Given the description of an element on the screen output the (x, y) to click on. 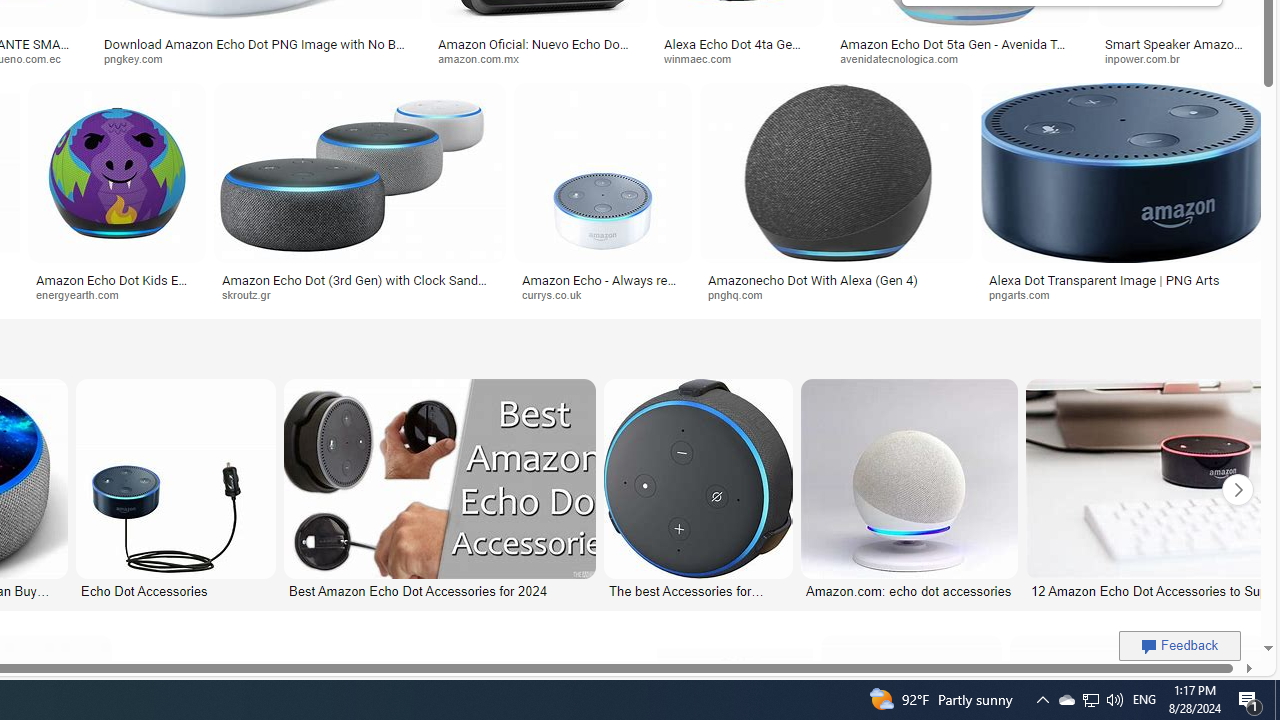
energyearth.com (84, 294)
Best Amazon Echo Dot Accessories for 2024 (437, 589)
Amazon Echo Dot Kids Edition - 5th Generation (117, 286)
Alexa Dot Transparent Image | PNG Arts (1123, 279)
winmaec.com (705, 57)
currys.co.uk (559, 294)
skroutz.gr (359, 295)
inpower.com.br (1181, 58)
avenidatecnologica.com (960, 58)
